Given the description of an element on the screen output the (x, y) to click on. 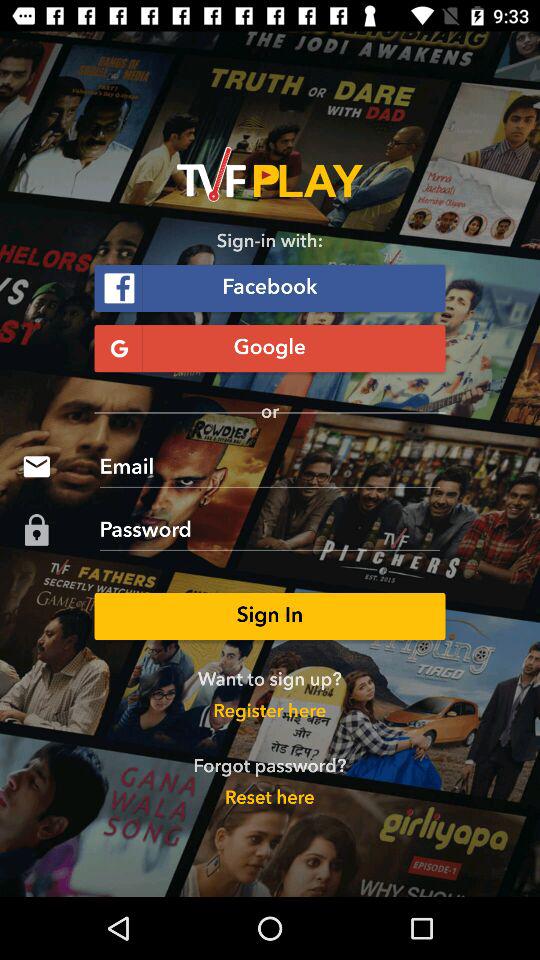
click the item above forgot password? icon (269, 711)
